Given the description of an element on the screen output the (x, y) to click on. 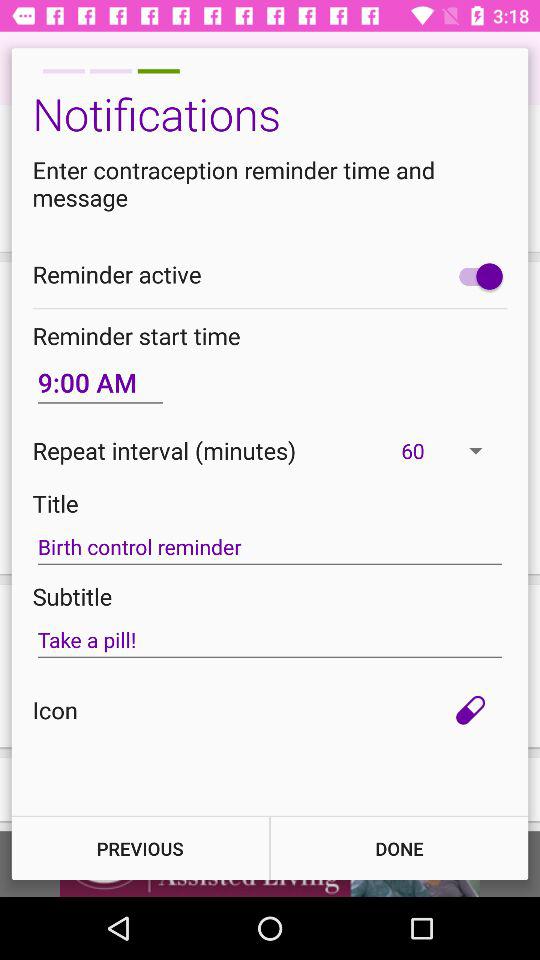
change icon (470, 710)
